Given the description of an element on the screen output the (x, y) to click on. 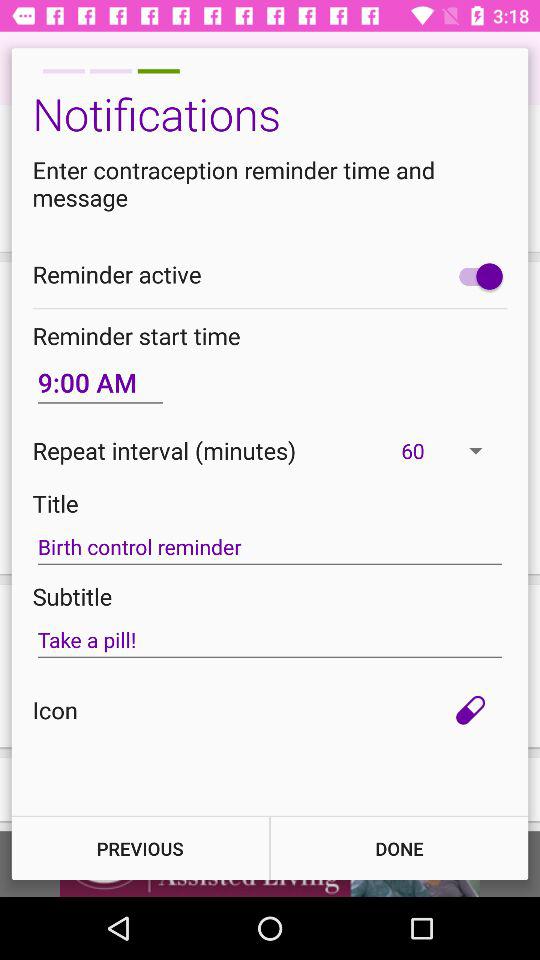
change icon (470, 710)
